Given the description of an element on the screen output the (x, y) to click on. 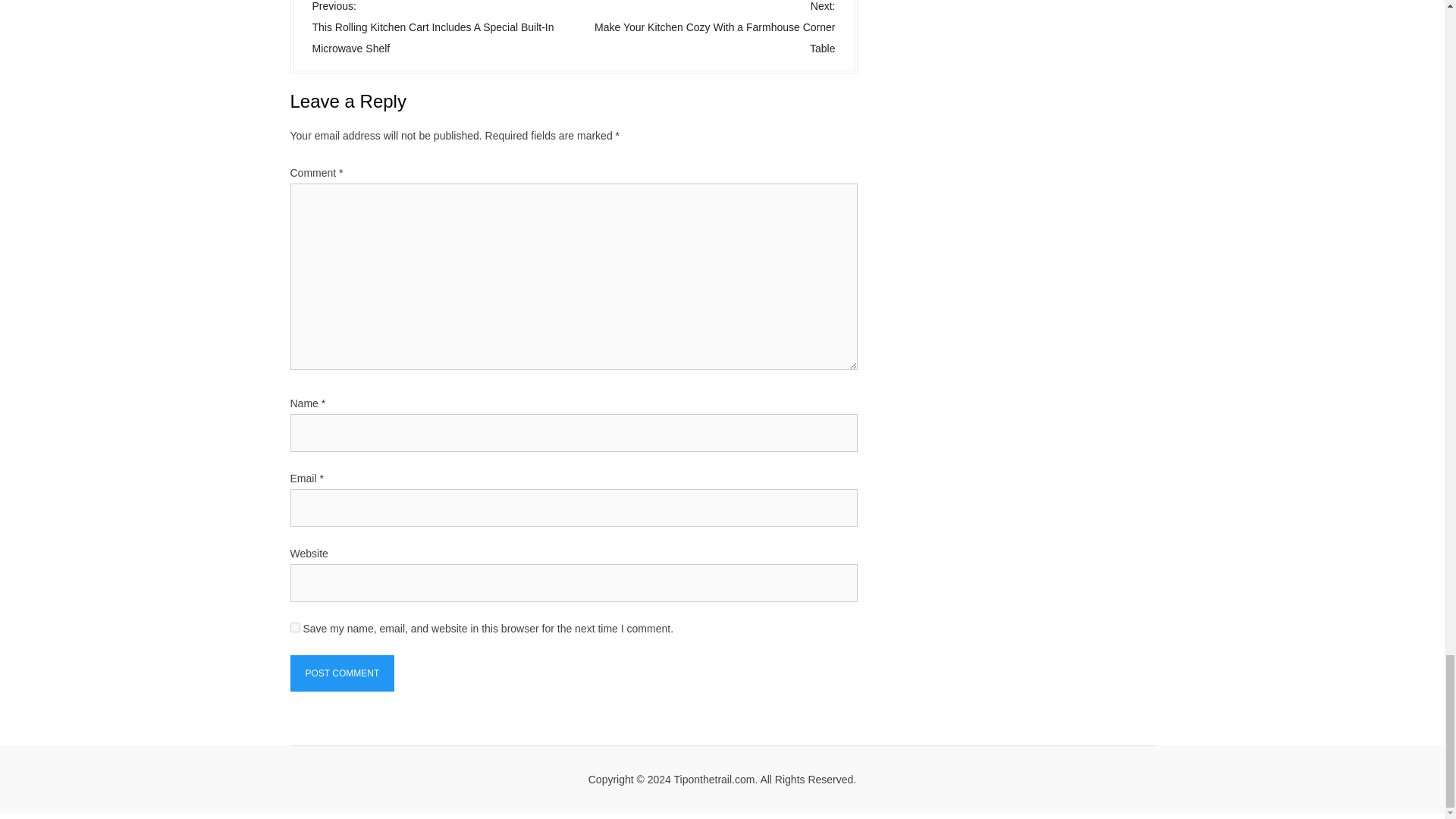
yes (294, 627)
Post Comment (341, 673)
Post Comment (341, 673)
